Given the description of an element on the screen output the (x, y) to click on. 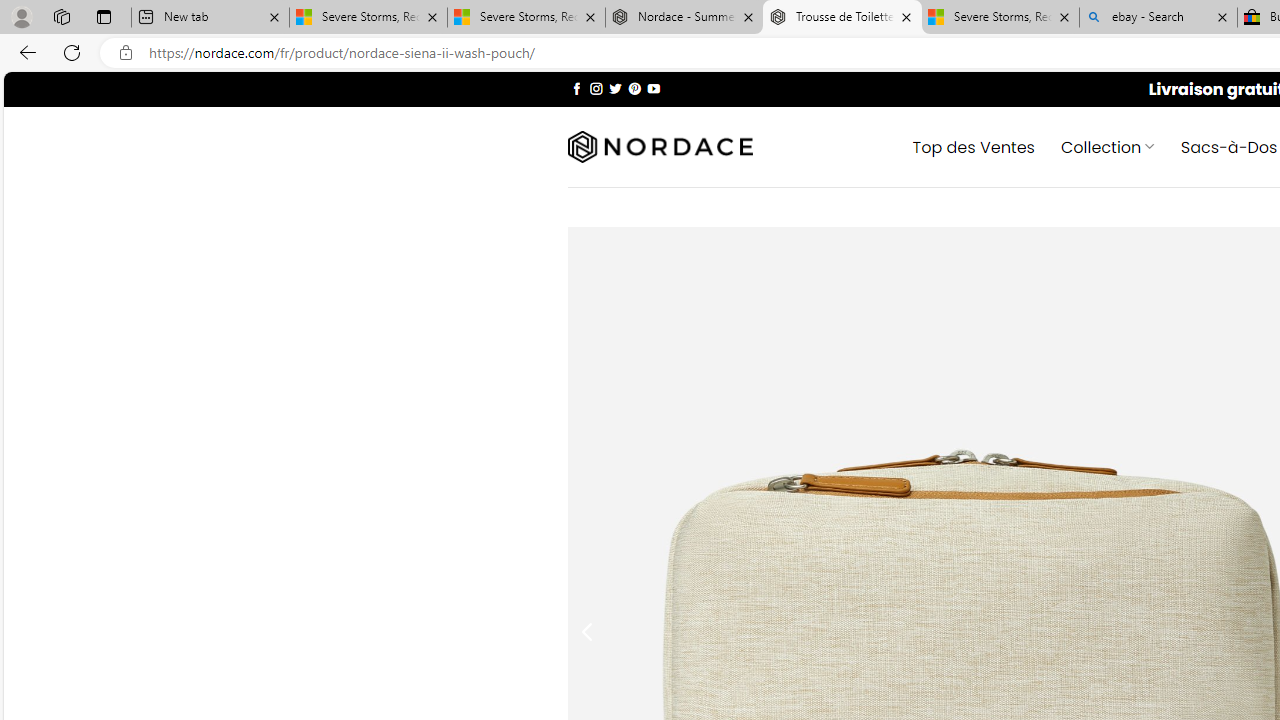
Nous suivre sur Twitter (615, 88)
Nous suivre sur Youtube (653, 88)
 Top des Ventes (973, 146)
